Given the description of an element on the screen output the (x, y) to click on. 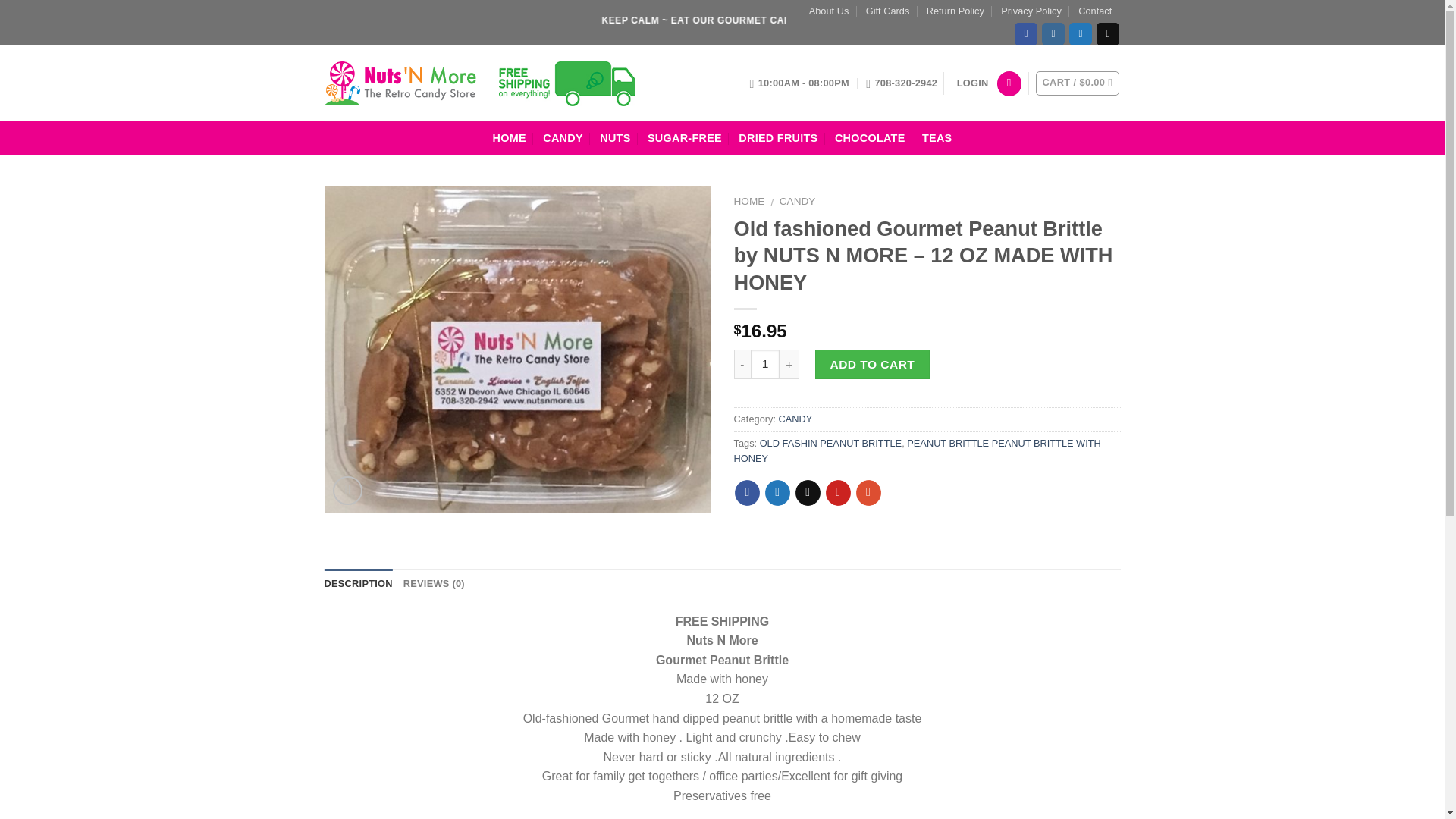
LOGIN (972, 83)
708-320-2942 (901, 82)
CHOCOLATE (869, 138)
Privacy Policy (1031, 11)
TEAS (936, 138)
Gift Cards (888, 11)
CANDY (796, 201)
10:00AM - 08:00PM (798, 82)
ADD TO CART (872, 364)
HOME (749, 201)
About Us (828, 11)
Return Policy (955, 11)
NUTS (614, 138)
DRIED FRUITS (777, 138)
HOME (509, 138)
